Given the description of an element on the screen output the (x, y) to click on. 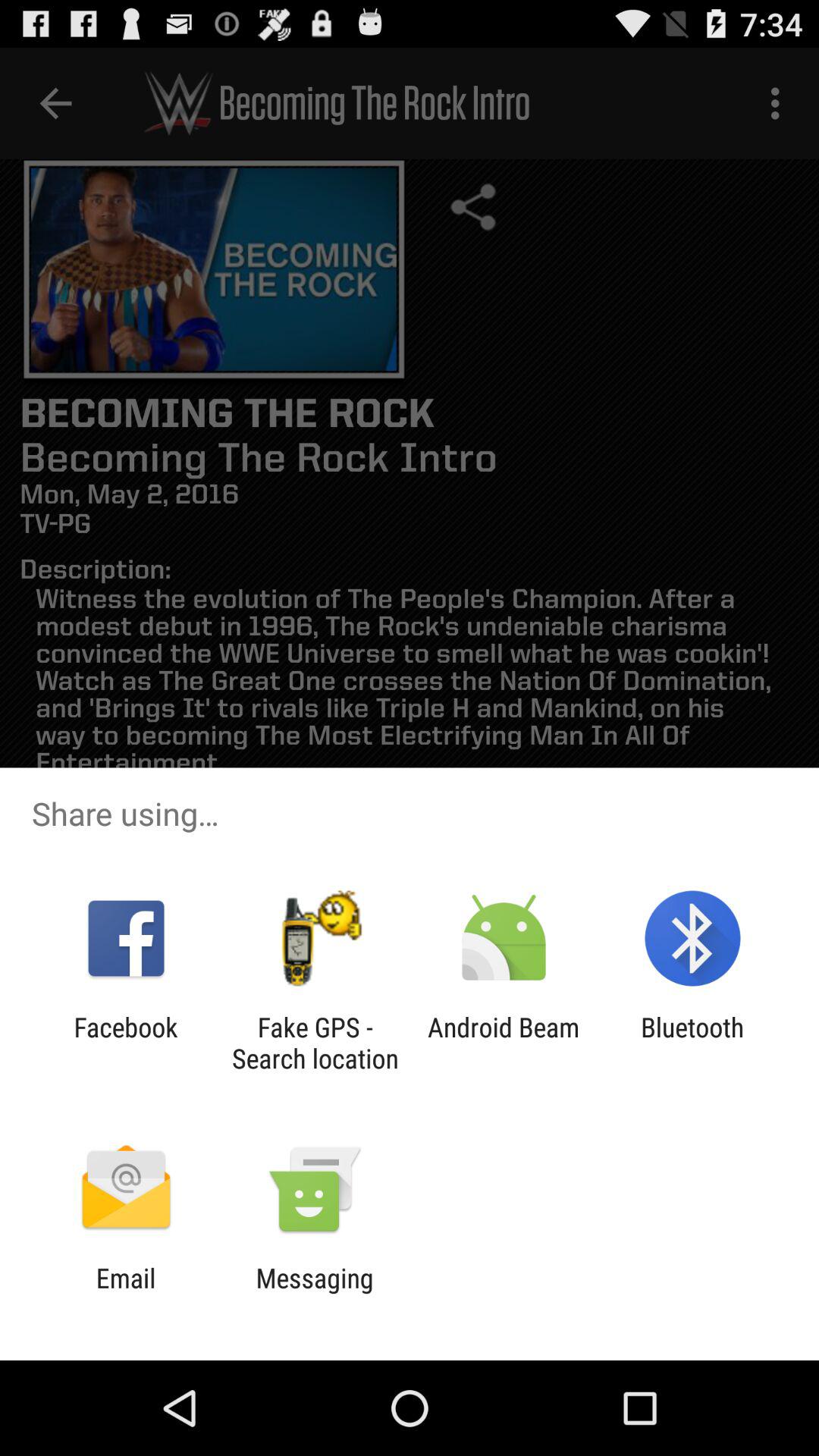
select the icon next to the fake gps search icon (503, 1042)
